Given the description of an element on the screen output the (x, y) to click on. 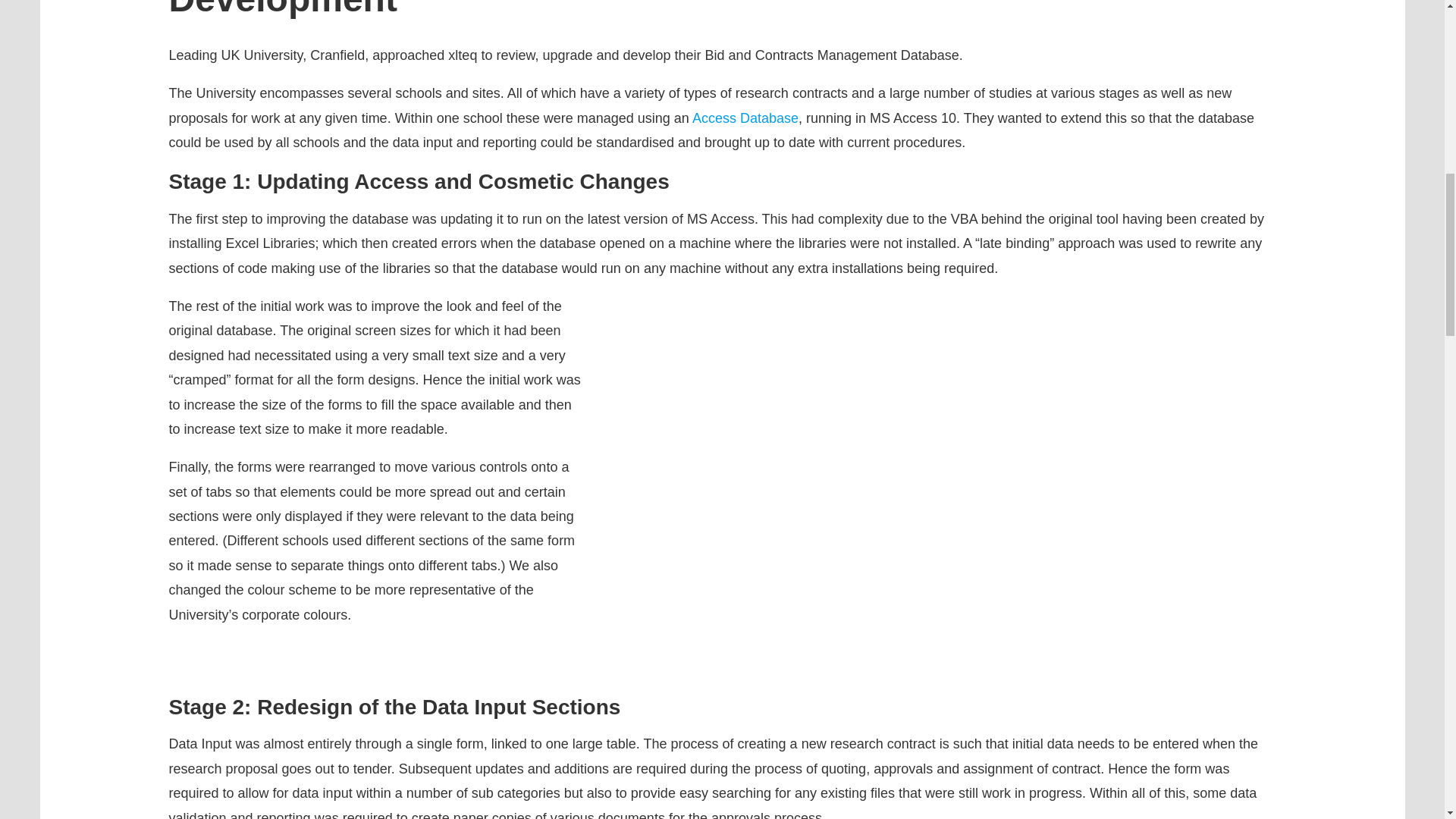
Access Database (745, 118)
